Given the description of an element on the screen output the (x, y) to click on. 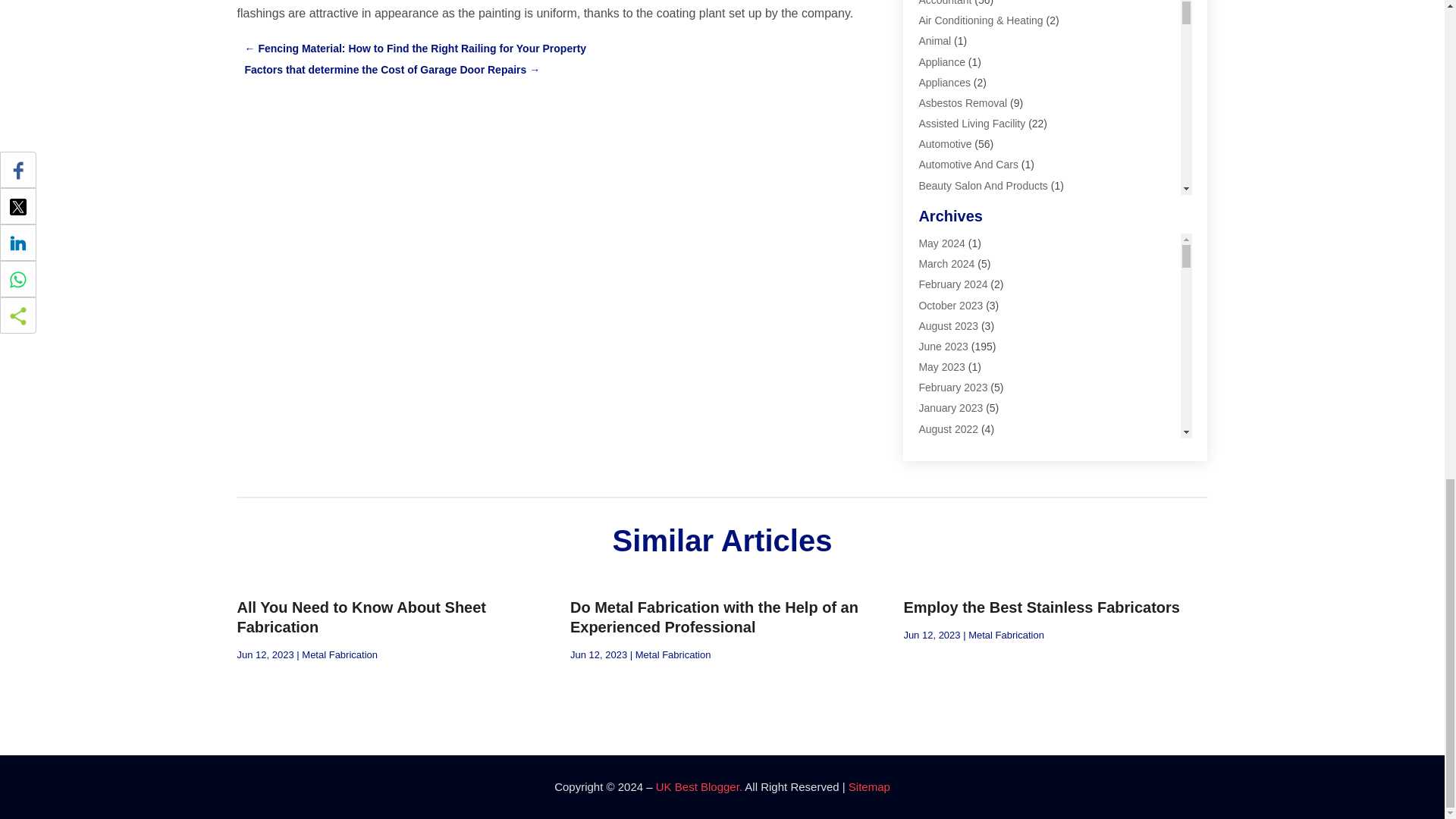
Beauty Salon And Products (982, 185)
Asbestos Removal (962, 102)
Appliances (944, 82)
Appliance (941, 61)
Builders (937, 246)
Automotive And Cars (967, 164)
Accountant (944, 2)
Animal (934, 40)
Automotive (944, 143)
Blinds (932, 205)
Boiler Service (951, 226)
Assisted Living Facility (971, 123)
